Given the description of an element on the screen output the (x, y) to click on. 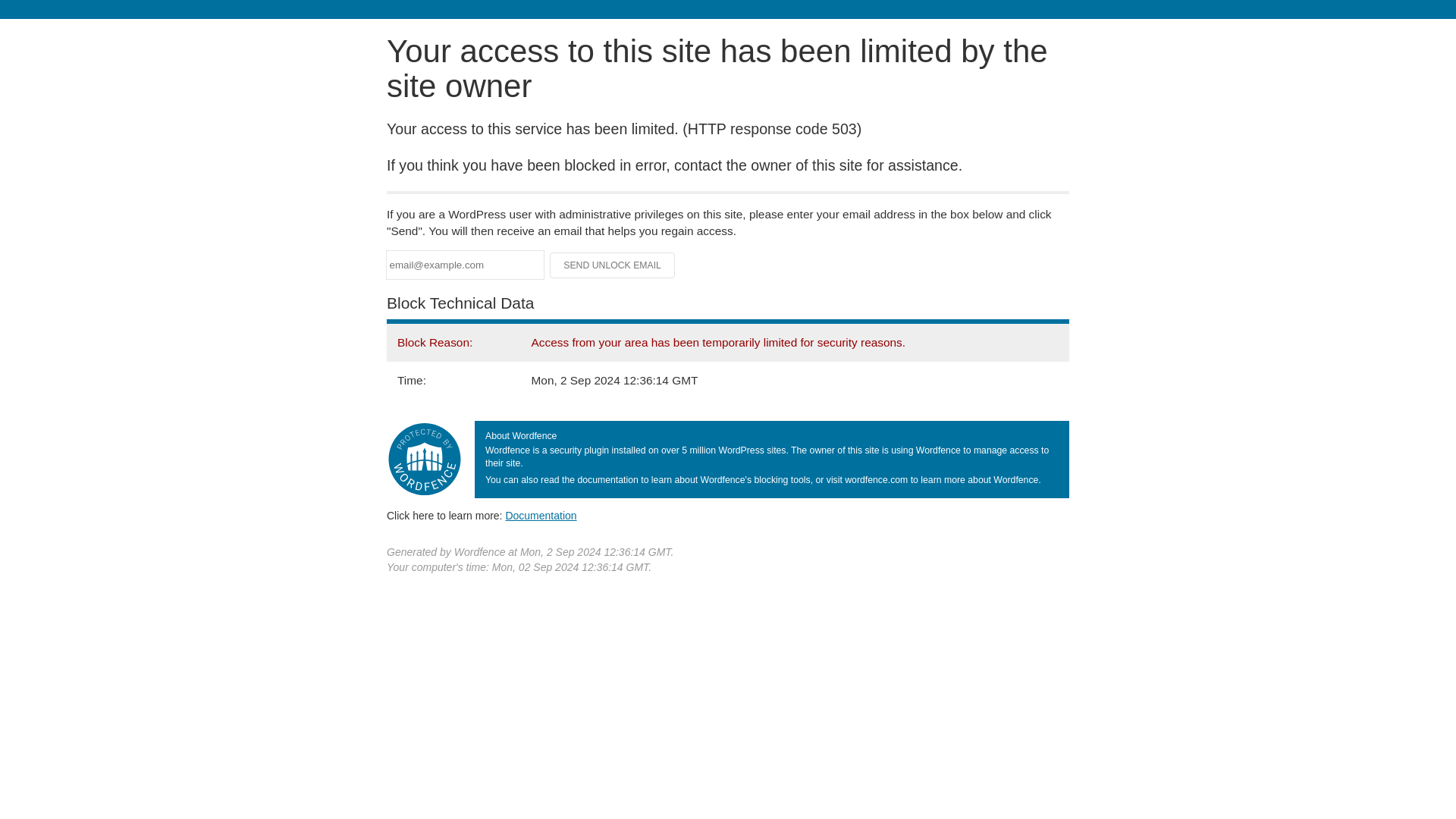
Send Unlock Email (612, 265)
Documentation (540, 515)
Send Unlock Email (612, 265)
